Given the description of an element on the screen output the (x, y) to click on. 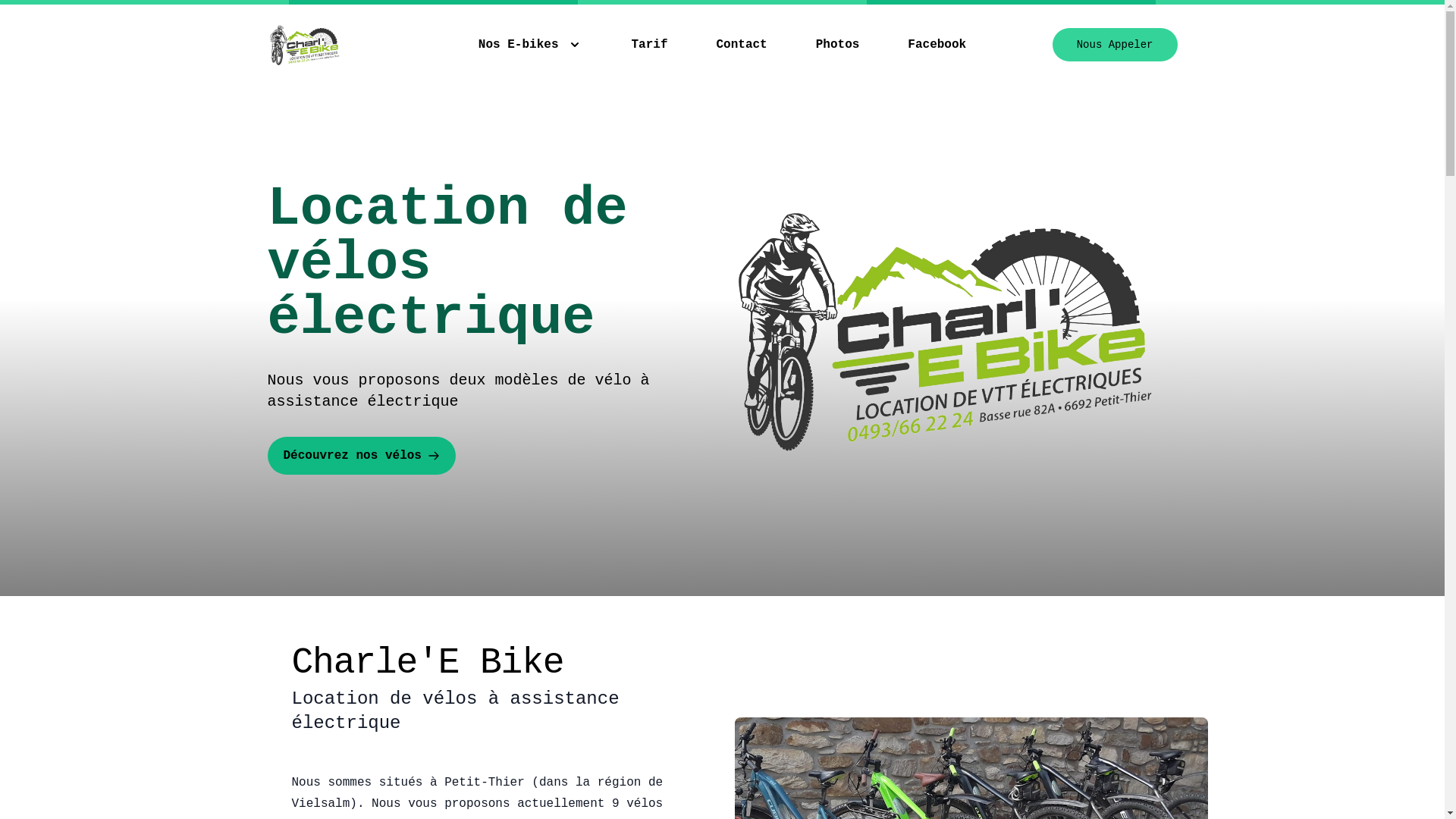
Nous Appeler Element type: text (1114, 44)
Photos Element type: text (837, 44)
Facebook Element type: text (936, 44)
Nos E-bikes Element type: text (530, 44)
Contact Element type: text (740, 44)
Tarif Element type: text (648, 44)
